Given the description of an element on the screen output the (x, y) to click on. 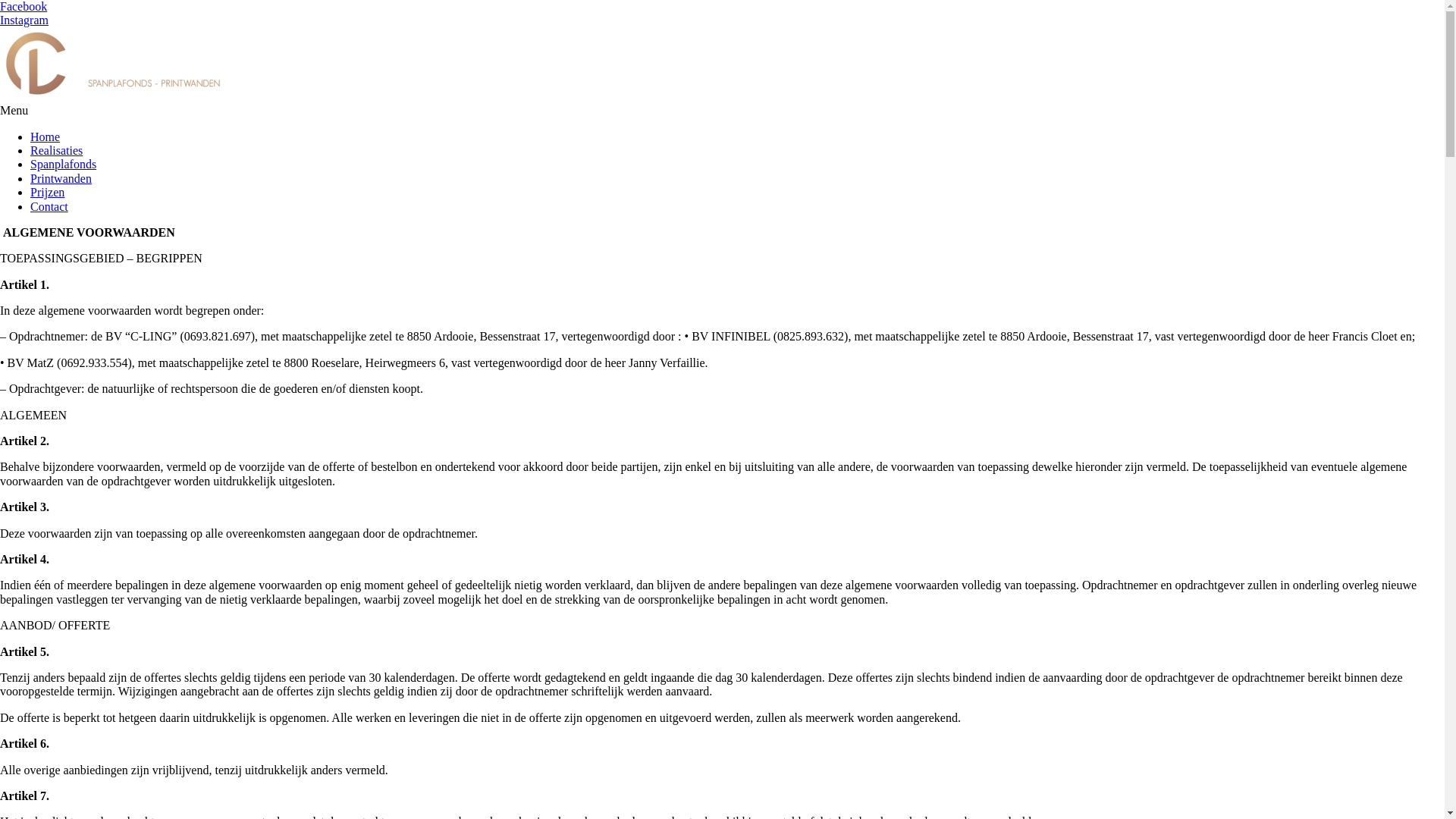
Instagram Element type: text (24, 19)
Printwanden Element type: text (60, 178)
Home Element type: text (44, 136)
Prijzen Element type: text (47, 191)
Contact Element type: text (49, 206)
Realisaties Element type: text (56, 150)
Facebook Element type: text (23, 6)
Spanplafonds Element type: text (63, 163)
